Given the description of an element on the screen output the (x, y) to click on. 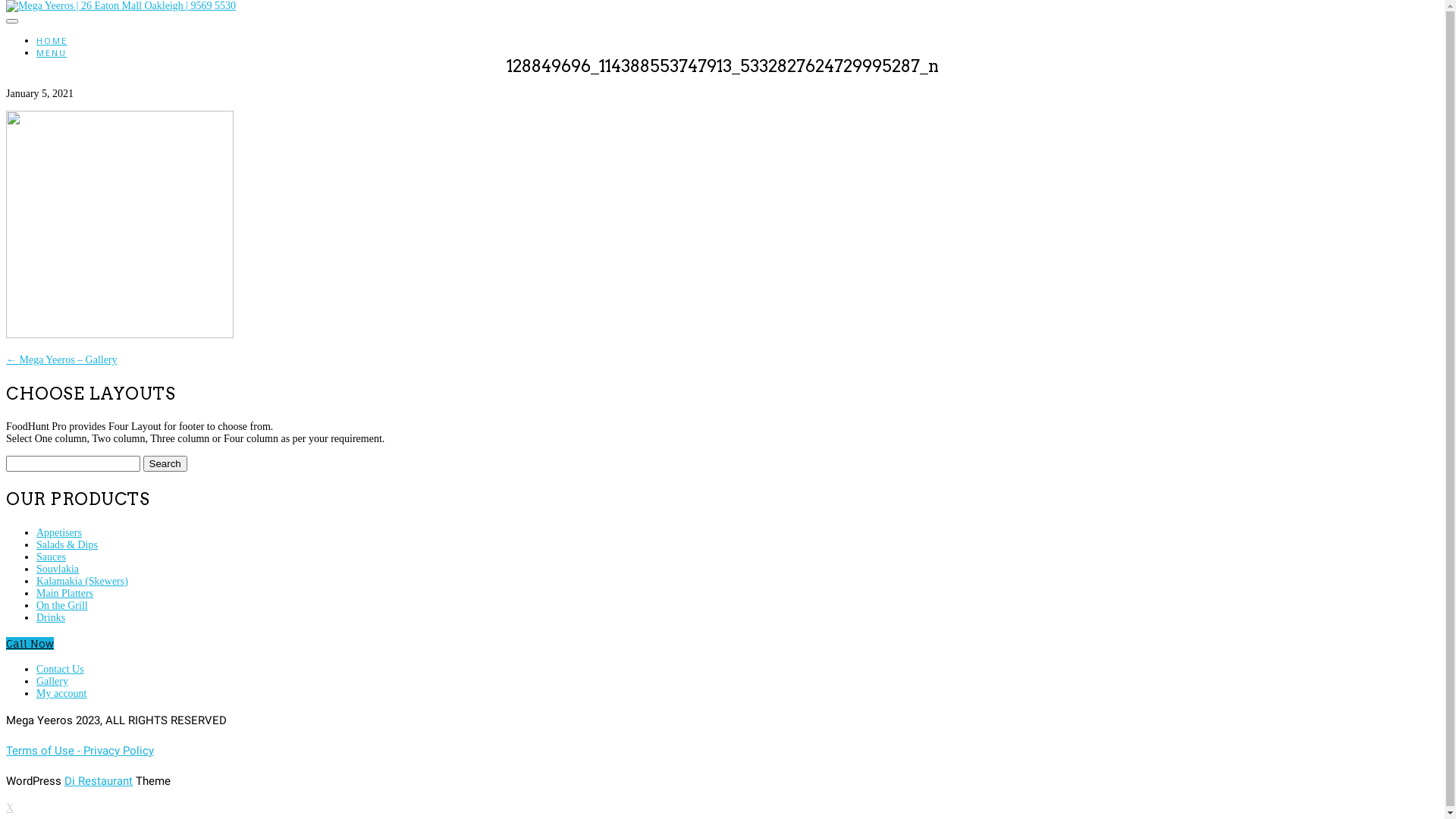
Drinks Element type: text (50, 617)
Contact Us Element type: text (60, 668)
X Element type: text (9, 807)
Search Element type: text (164, 463)
Terms of Use - Privacy Policy Element type: text (79, 750)
Di Restaurant Element type: text (98, 780)
Salads & Dips Element type: text (66, 544)
Call Now Element type: text (29, 643)
My account Element type: text (61, 693)
Appetisers Element type: text (58, 532)
On the Grill Element type: text (61, 605)
Skip to content Element type: text (5, 5)
Main Platters Element type: text (64, 593)
Kalamakia (Skewers) Element type: text (82, 580)
Souvlakia Element type: text (57, 568)
MENU Element type: text (51, 52)
Sauces Element type: text (50, 556)
Gallery Element type: text (52, 681)
HOME Element type: text (51, 40)
